Given the description of an element on the screen output the (x, y) to click on. 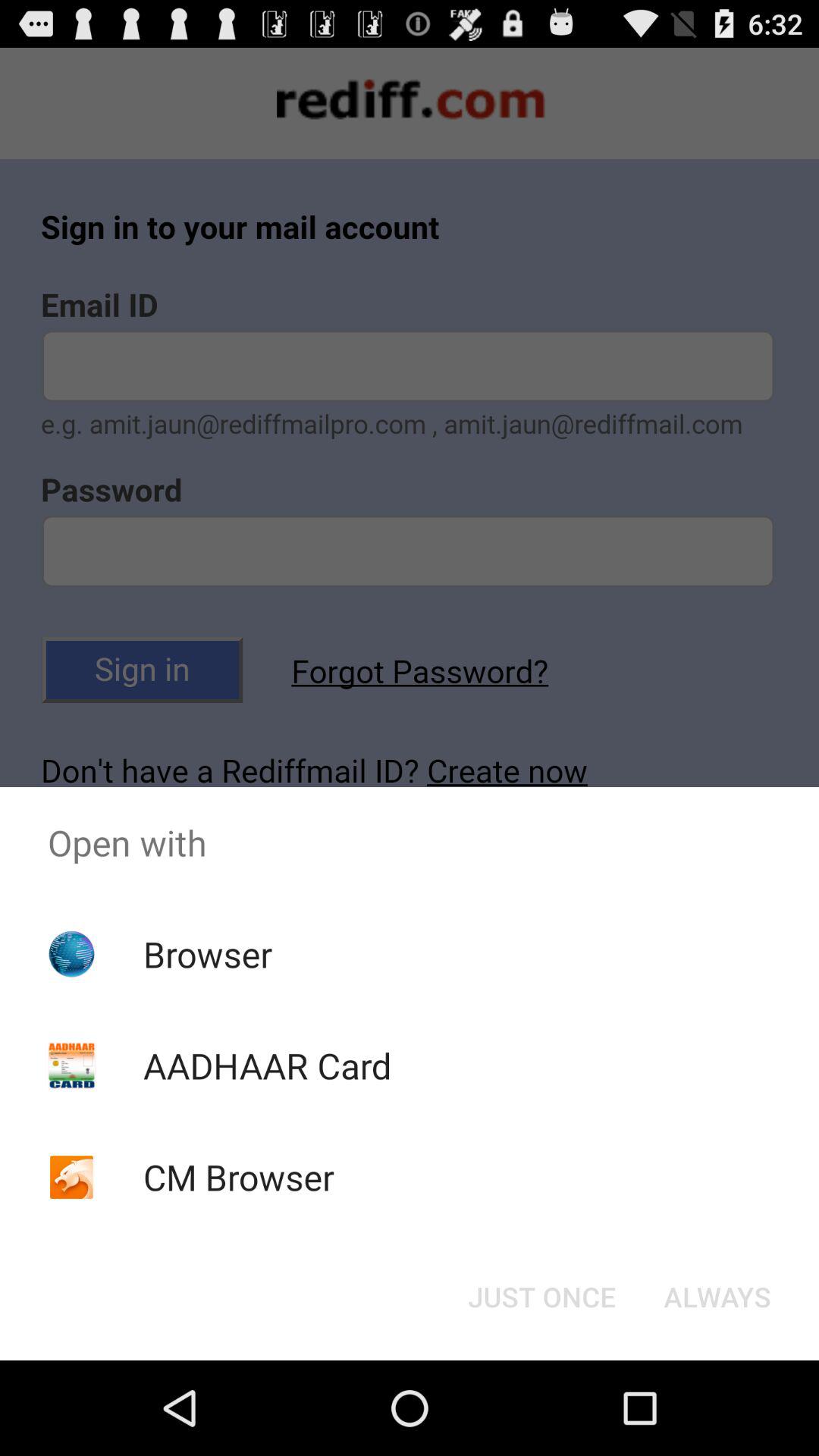
turn on the always item (717, 1296)
